Given the description of an element on the screen output the (x, y) to click on. 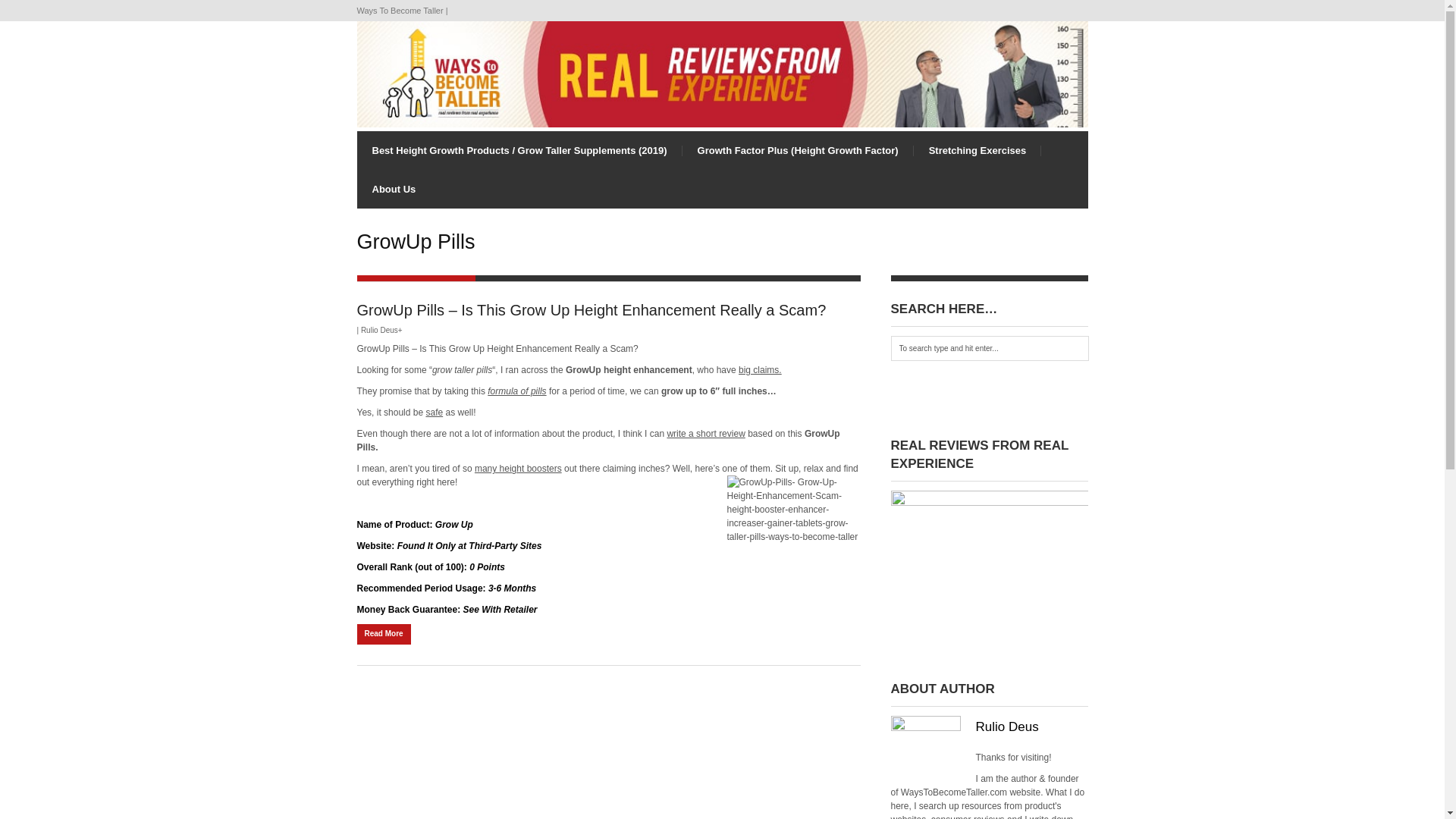
Rulio Deus (1006, 726)
Read More (383, 634)
Posts by Rulio Deus (379, 329)
About Us (393, 188)
Stretching Exercises (978, 150)
Rulio Deus (379, 329)
To search type and hit enter... (988, 348)
